Given the description of an element on the screen output the (x, y) to click on. 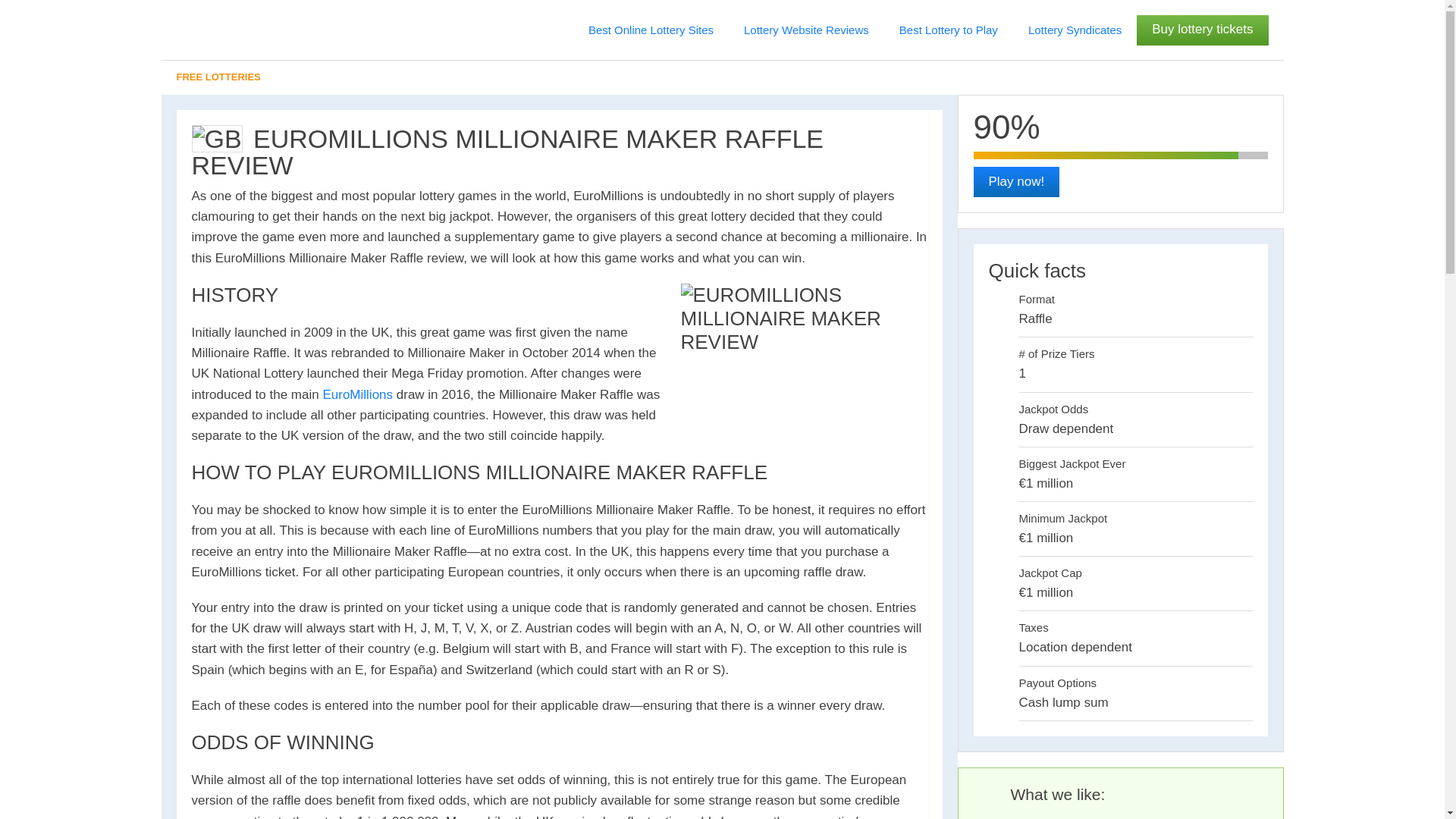
FREE LOTTERIES (721, 77)
FREE LOTTERIES (721, 77)
Buy lottery tickets (1202, 30)
FREE LOTTERIES (721, 77)
Lotto Analyst (222, 30)
FREE LOTTERIES (721, 77)
Play now! (1016, 182)
Lottery Website Reviews (806, 30)
Lotto Analyst (222, 30)
Best Online Lottery Sites (651, 30)
